Given the description of an element on the screen output the (x, y) to click on. 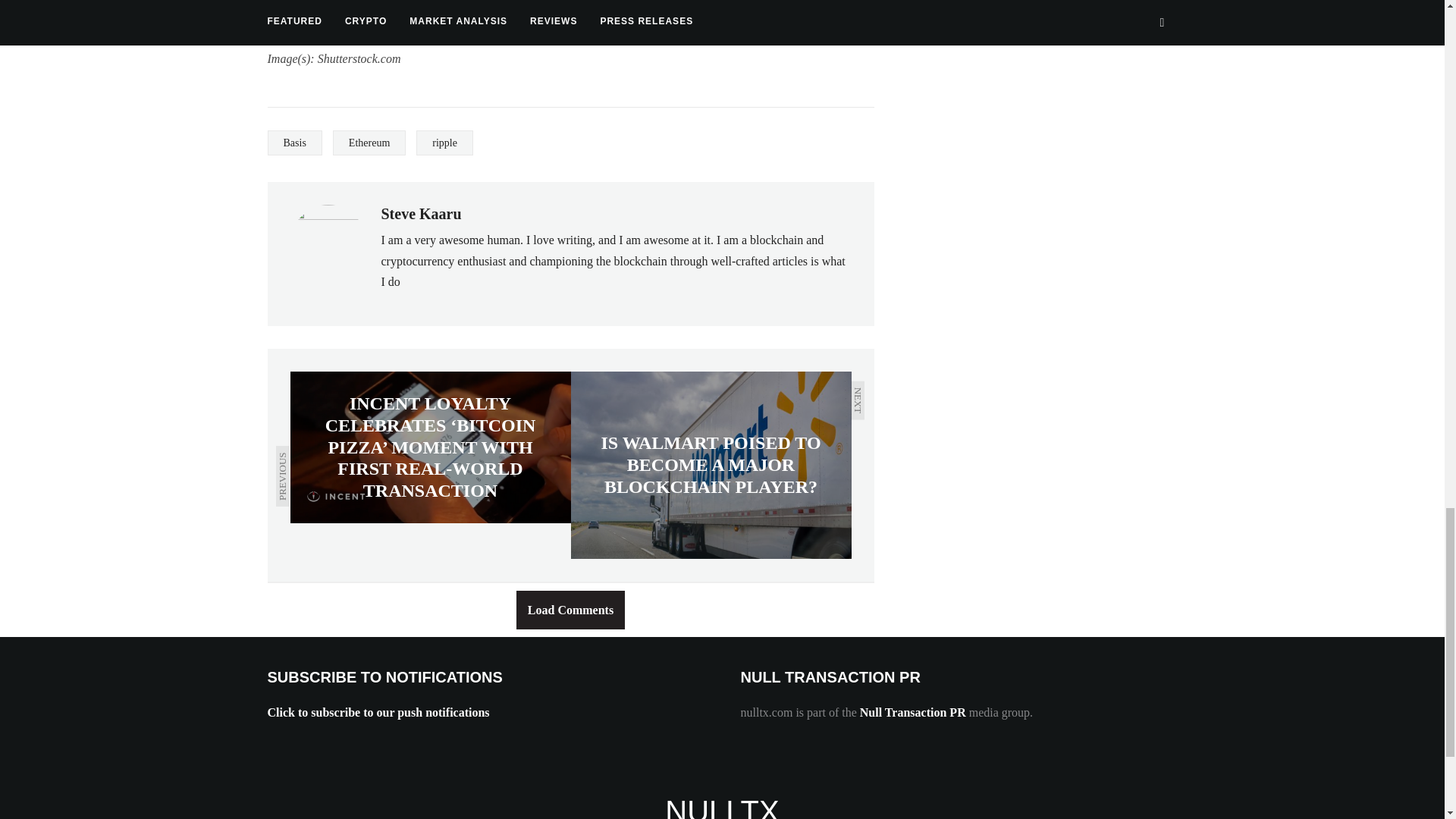
Is Walmart Poised to Become a Major Blockchain Player? (710, 464)
Steve Kaaru (420, 213)
Basis (293, 142)
Posts by Steve Kaaru (420, 213)
ripple (444, 142)
Null Transaction PR (913, 712)
Load Comments (570, 609)
NULLTX (721, 806)
IS WALMART POISED TO BECOME A MAJOR BLOCKCHAIN PLAYER? (710, 464)
Click to subscribe to our push notifications (377, 712)
Ethereum (369, 142)
Cryptocurrency News (721, 806)
